Given the description of an element on the screen output the (x, y) to click on. 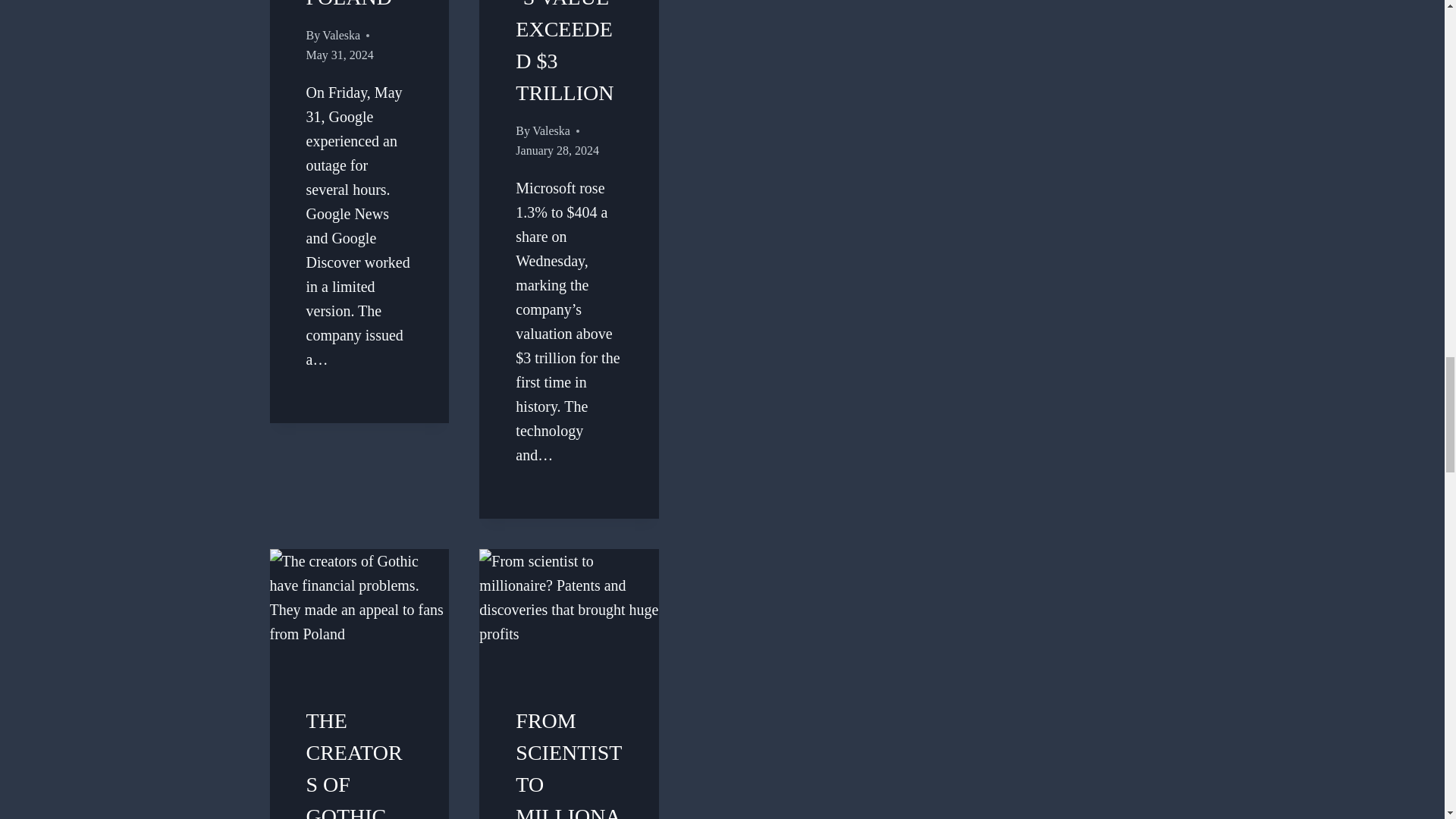
BIG GOOGLE OUTAGE. PROBLEMS INCLUDE: IN POLAND (355, 4)
